Given the description of an element on the screen output the (x, y) to click on. 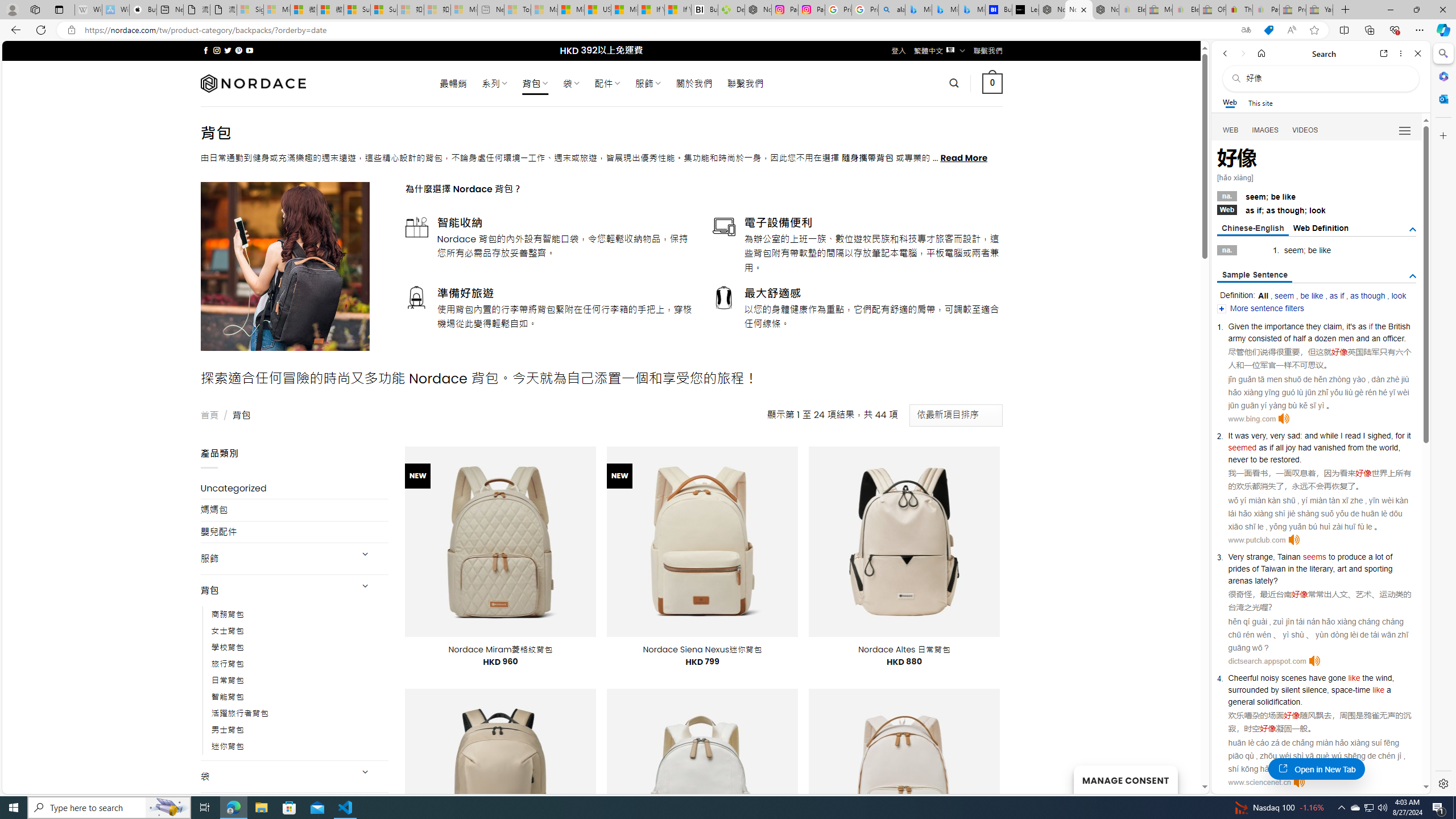
AutomationID: tgdef_sen (1412, 276)
Search Filter, VIDEOS (1304, 129)
